Given the description of an element on the screen output the (x, y) to click on. 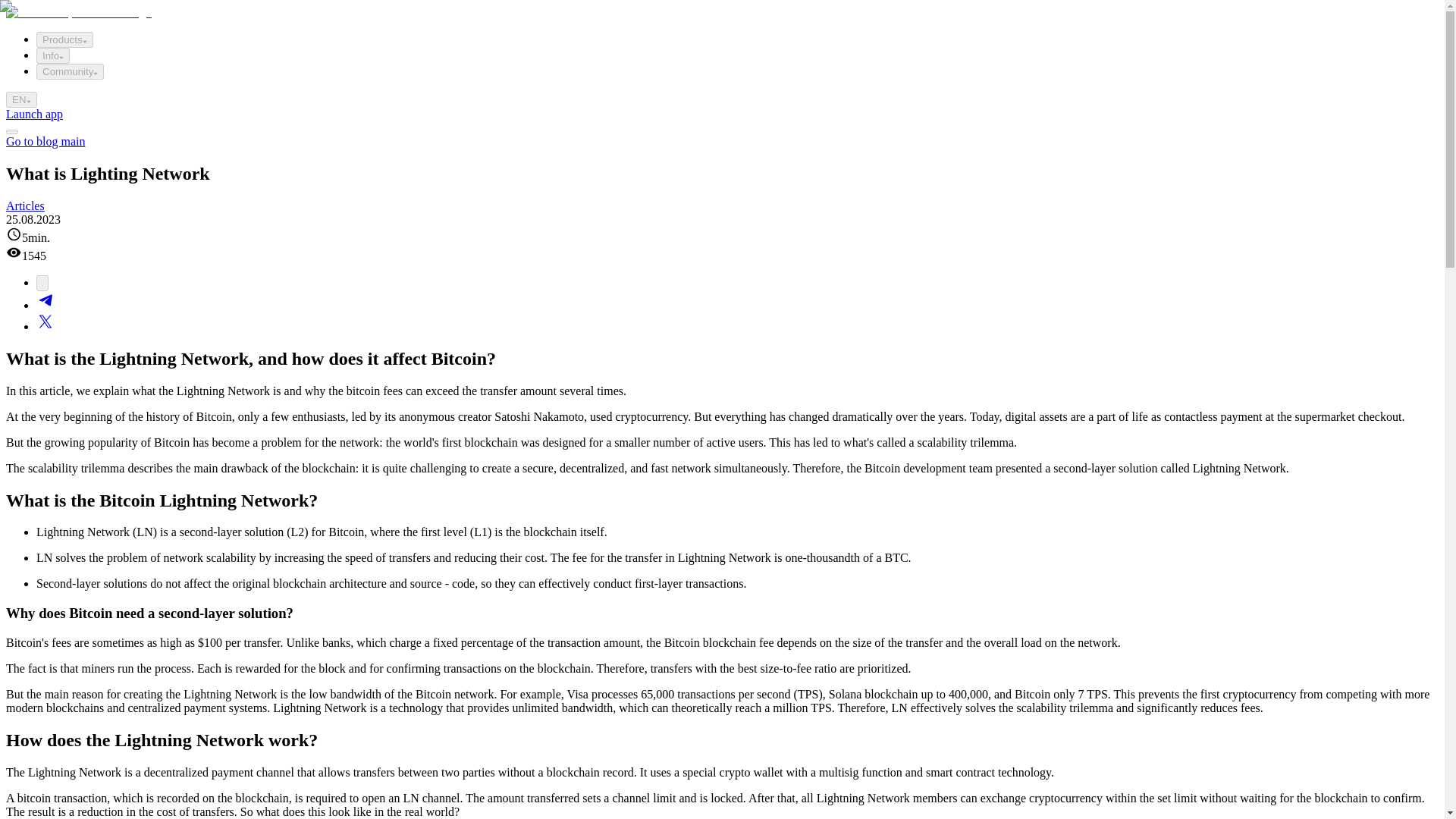
Community (69, 71)
Articles (25, 205)
Go to blog main (44, 141)
Info (52, 55)
EN (21, 99)
Products (64, 39)
